Given the description of an element on the screen output the (x, y) to click on. 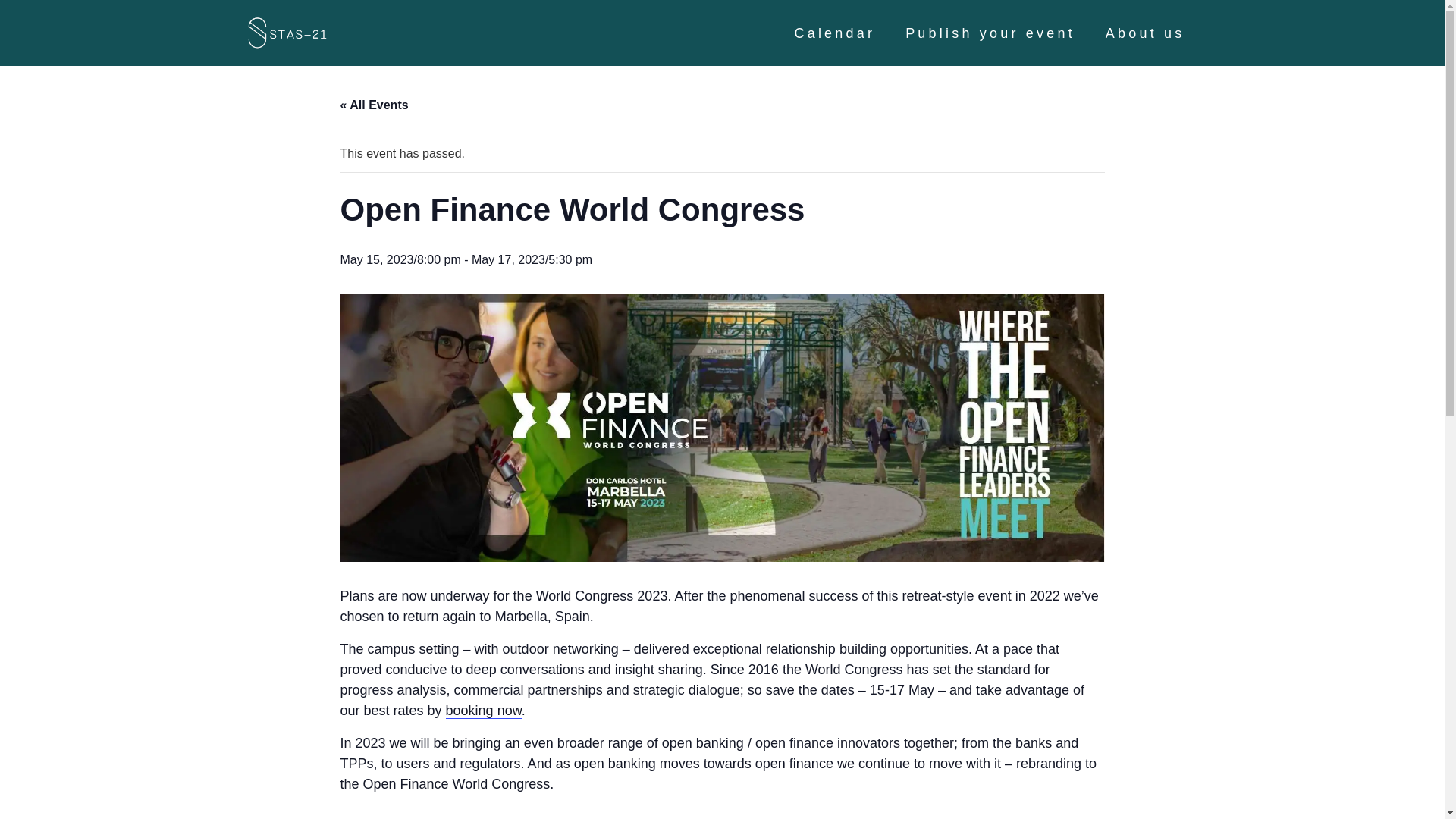
Publish your event (989, 32)
Calendar (834, 32)
About us (1144, 32)
booking now (483, 710)
